Given the description of an element on the screen output the (x, y) to click on. 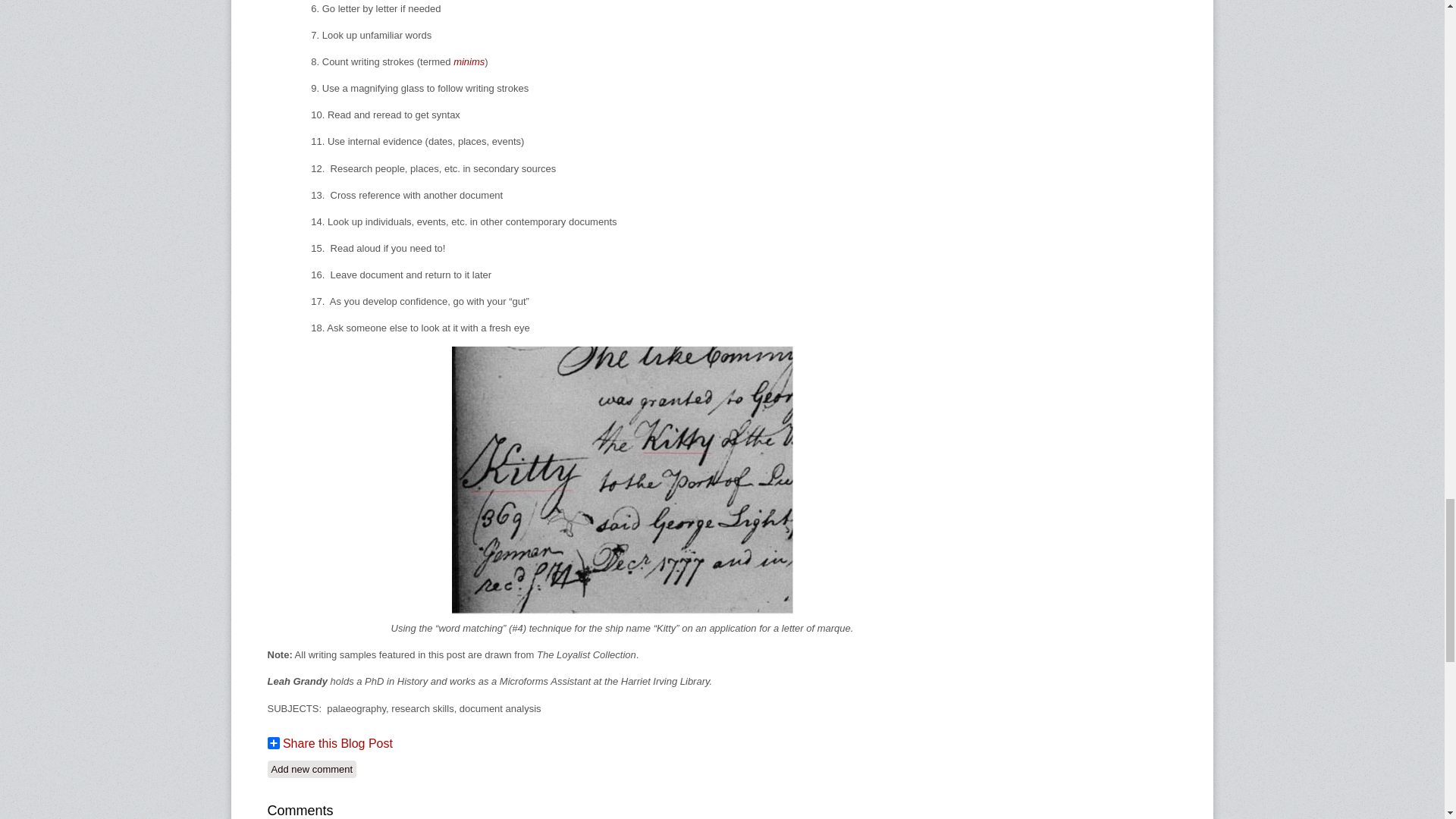
minims (468, 61)
Share your thoughts and opinions related to this posting. (311, 769)
Share this Blog Post (328, 743)
Add new comment (311, 769)
